Given the description of an element on the screen output the (x, y) to click on. 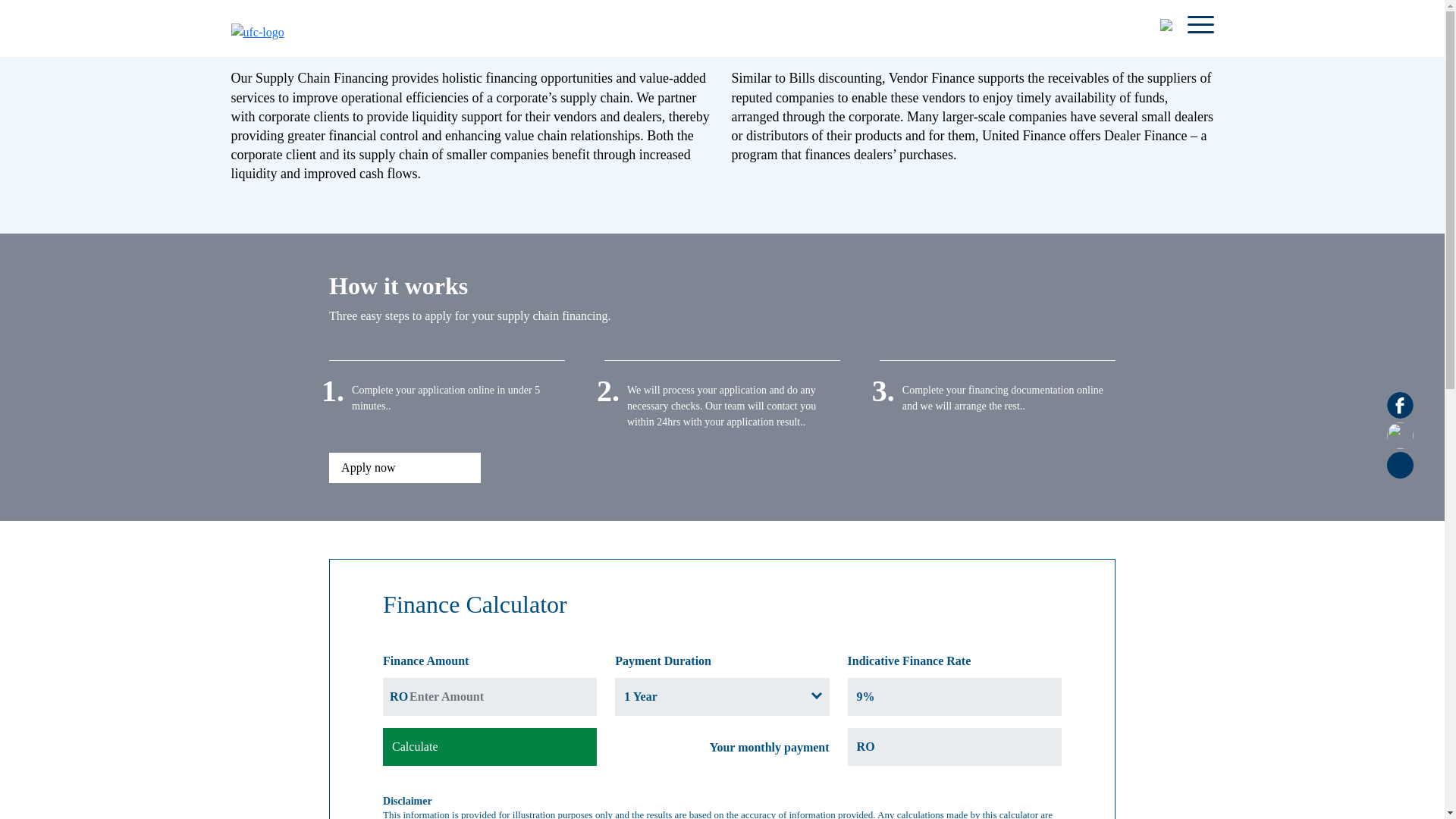
Corporate deposits (851, 11)
Apply now (404, 467)
RO (954, 746)
Calculate (489, 746)
